Given the description of an element on the screen output the (x, y) to click on. 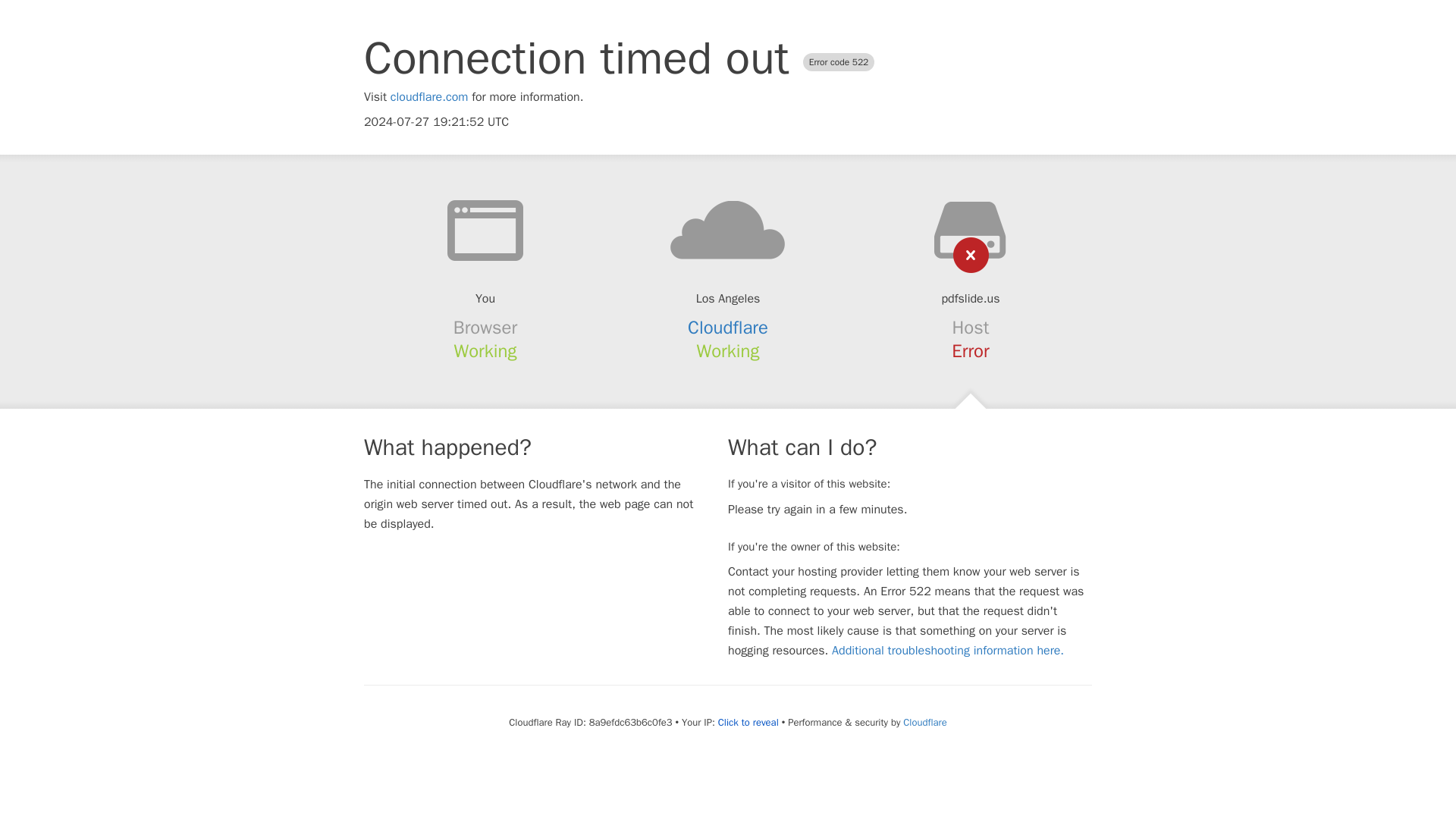
Cloudflare (727, 327)
Click to reveal (747, 722)
Additional troubleshooting information here. (947, 650)
Cloudflare (924, 721)
cloudflare.com (429, 96)
